Given the description of an element on the screen output the (x, y) to click on. 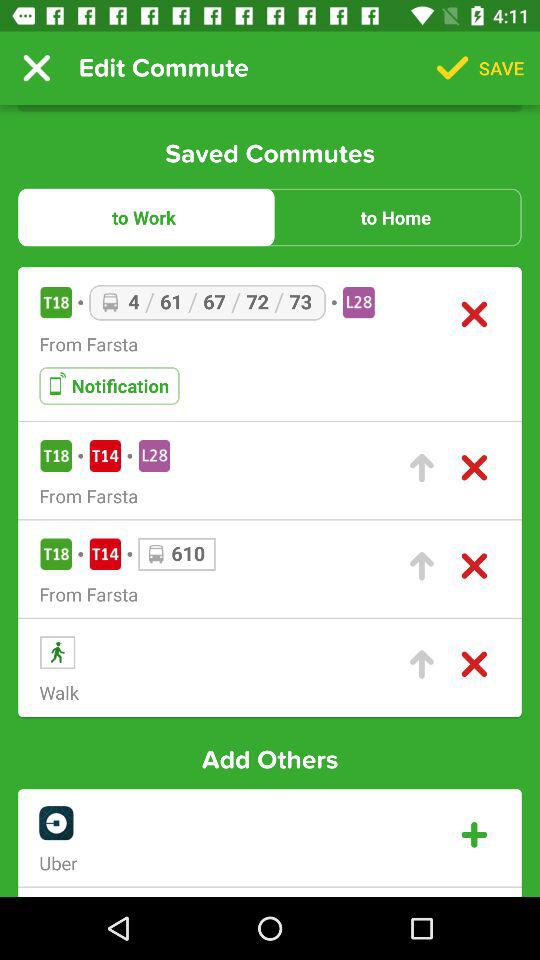
button to delete route (474, 664)
